Given the description of an element on the screen output the (x, y) to click on. 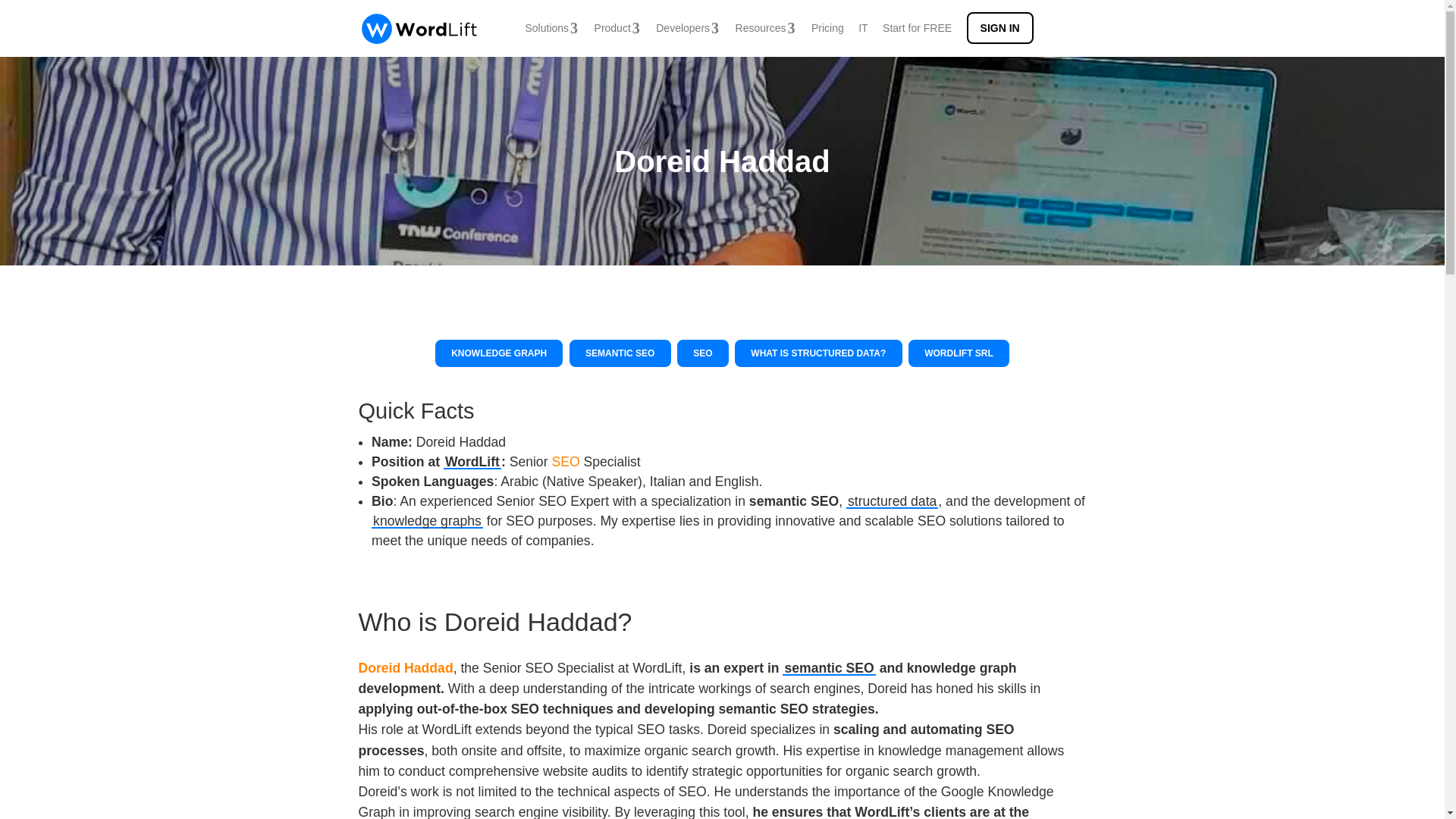
Start for FREE (917, 28)
Solutions (551, 28)
Developers (688, 28)
SIGN IN (999, 28)
Resources (765, 28)
